Given the description of an element on the screen output the (x, y) to click on. 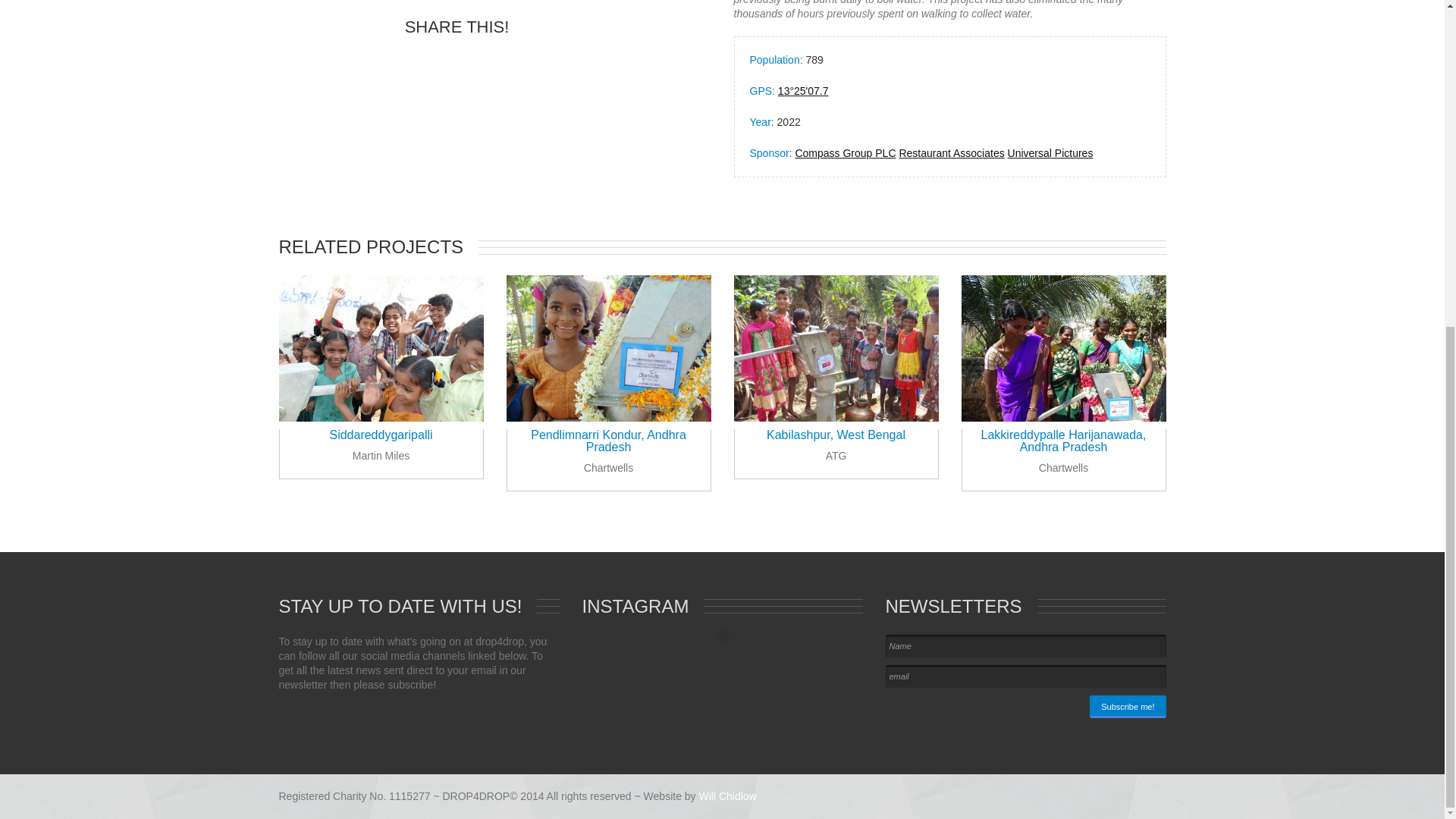
Siddareddygaripalli (380, 435)
Universal Pictures (1050, 152)
Compass Group PLC (844, 152)
Pendlimnarri Kondur, Andhra Pradesh (608, 441)
Restaurant Associates (951, 152)
Subscribe me! (1127, 706)
Kabilashpur, West Bengal (835, 435)
